Given the description of an element on the screen output the (x, y) to click on. 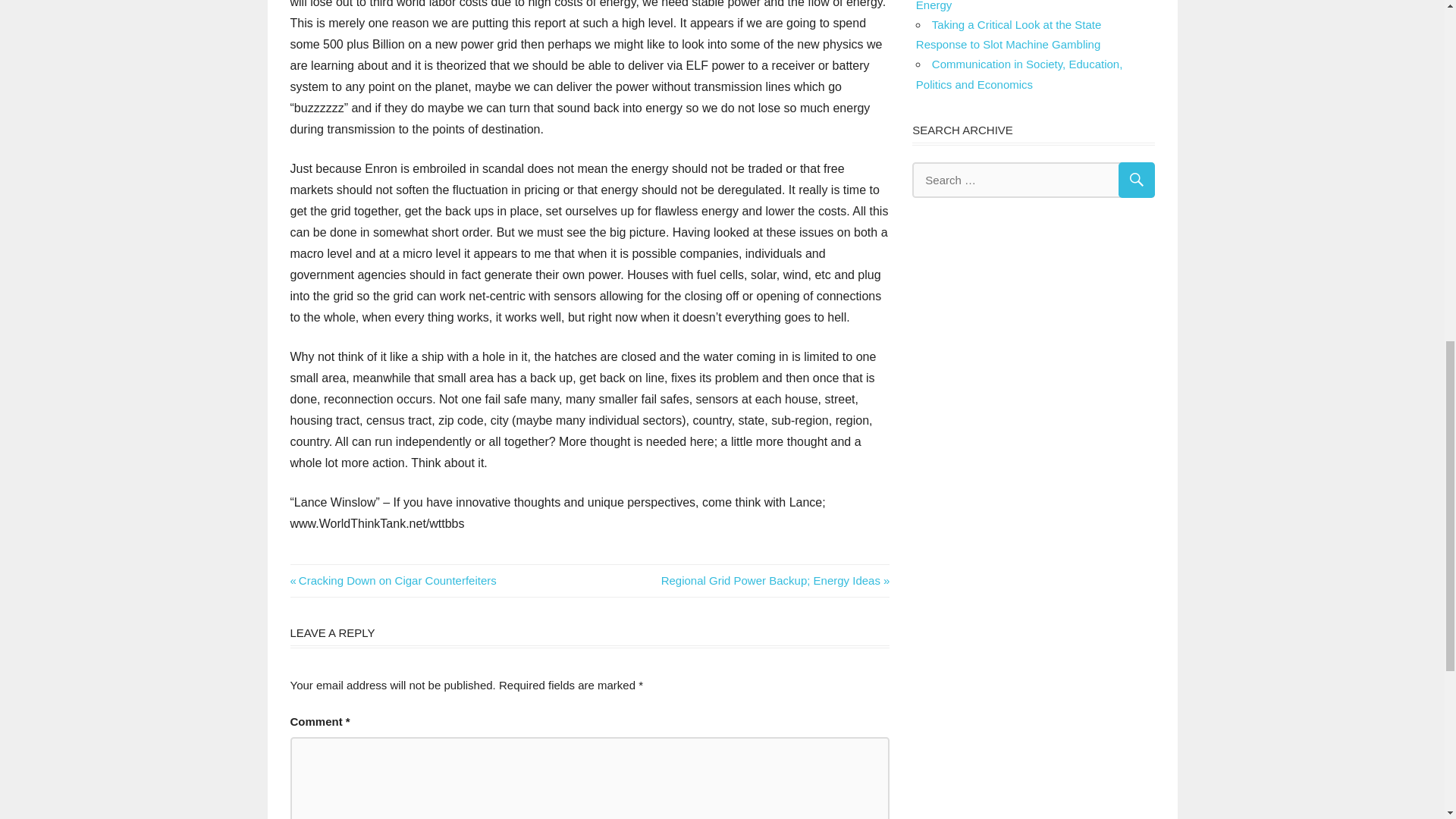
Communication in Society, Education, Politics and Economics (775, 580)
Search for: (392, 580)
